Given the description of an element on the screen output the (x, y) to click on. 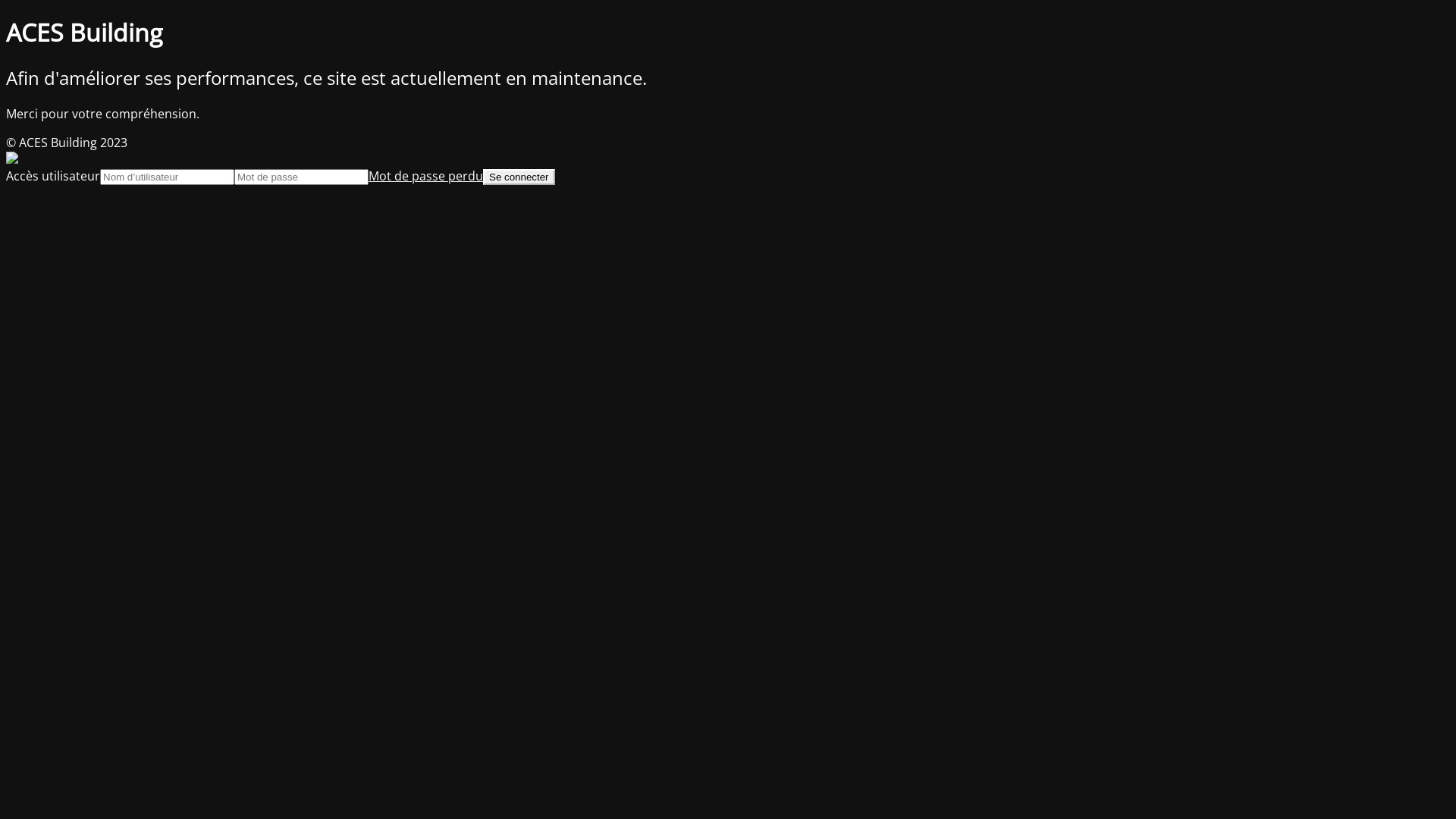
Se connecter Element type: text (519, 177)
Mot de passe perdu Element type: text (425, 175)
